Given the description of an element on the screen output the (x, y) to click on. 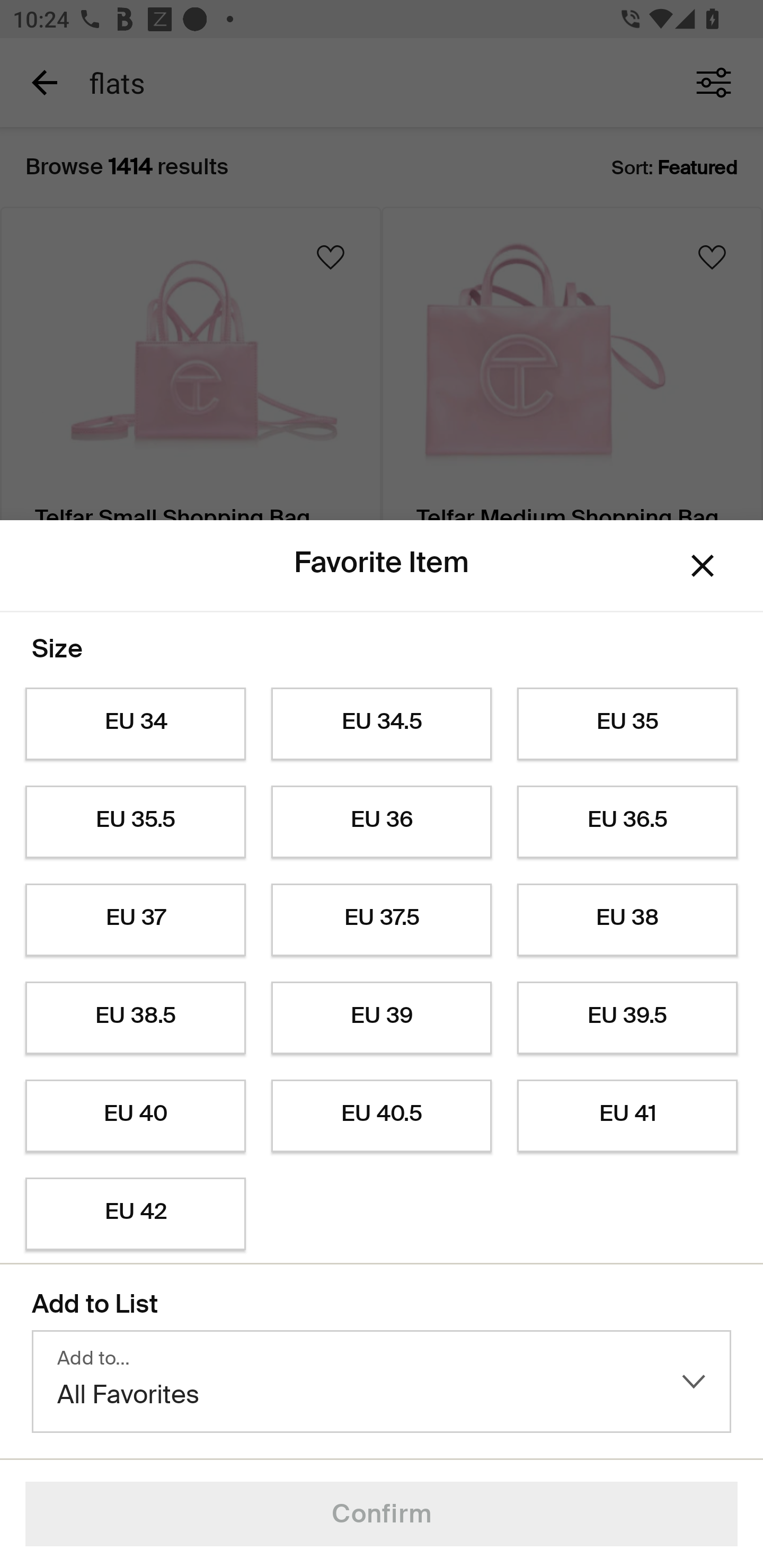
Dismiss (702, 564)
EU 34 (135, 724)
EU 34.5 (381, 724)
EU 35 (627, 724)
EU 35.5 (135, 822)
EU 36 (381, 822)
EU 36.5 (627, 822)
EU 37 (135, 919)
EU 37.5 (381, 919)
EU 38 (627, 919)
EU 38.5 (135, 1018)
EU 39 (381, 1018)
EU 39.5 (627, 1018)
EU 40 (135, 1116)
EU 40.5 (381, 1116)
EU 41 (627, 1116)
EU 42 (135, 1214)
Add to… All Favorites (381, 1381)
Confirm (381, 1513)
